Given the description of an element on the screen output the (x, y) to click on. 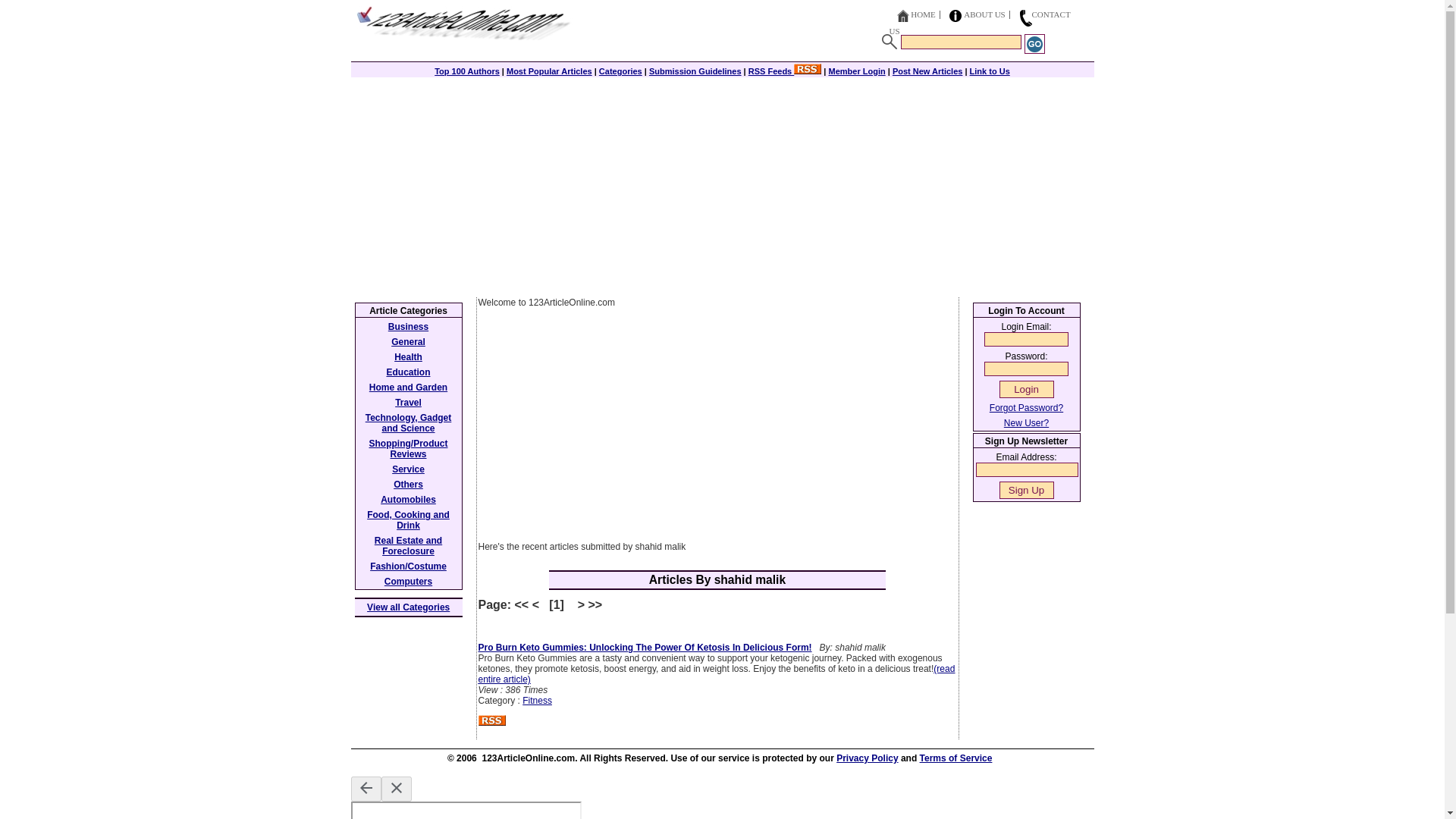
Food, Cooking and Drink (407, 519)
Computers (408, 581)
Travel (408, 402)
Education (407, 371)
Most Popular Articles (549, 71)
Top 100 Authors (466, 71)
Health (408, 357)
Categories (620, 71)
Home and Garden (407, 387)
Submission Guidelines (695, 71)
